Given the description of an element on the screen output the (x, y) to click on. 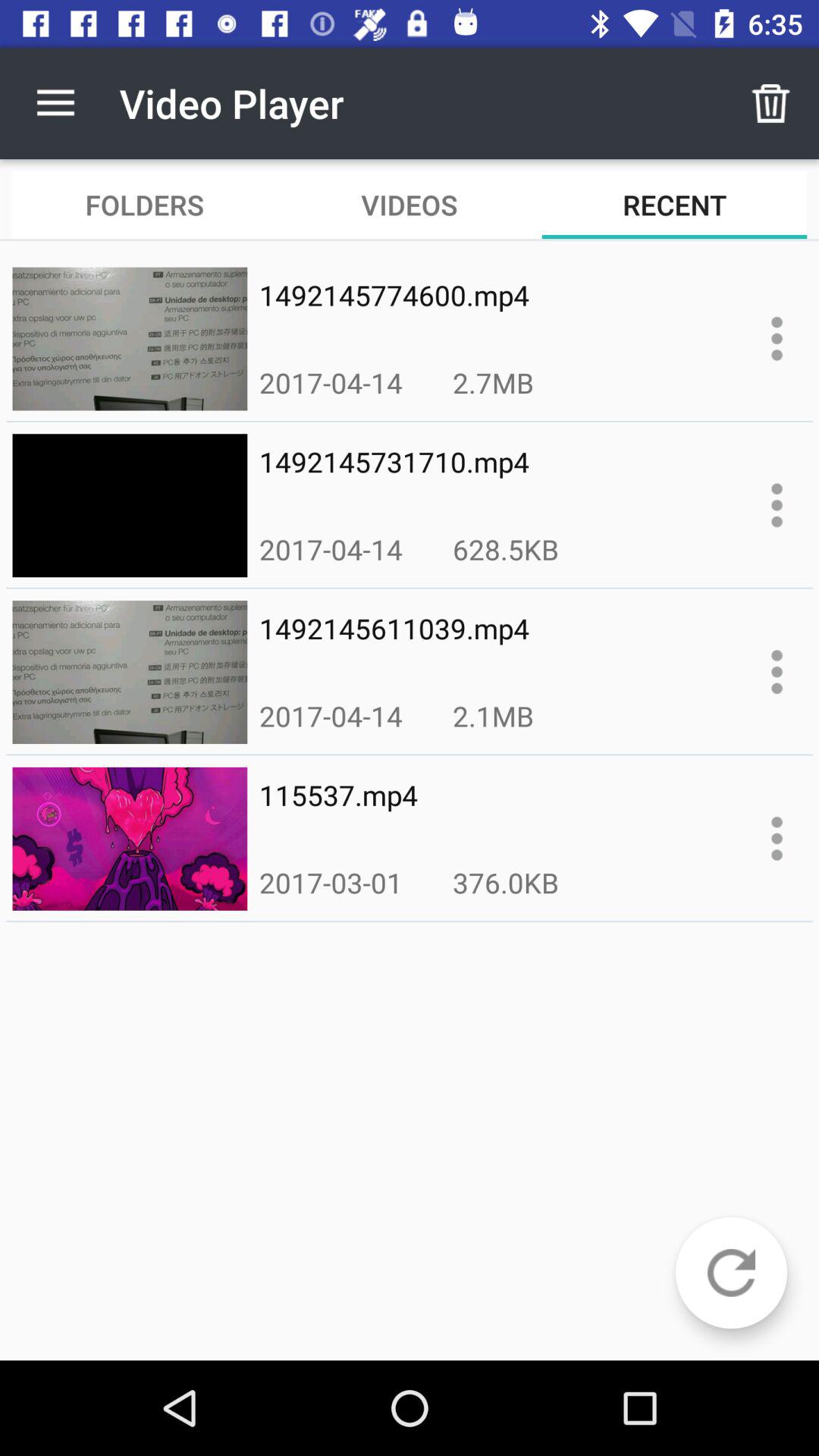
options menu (776, 671)
